Given the description of an element on the screen output the (x, y) to click on. 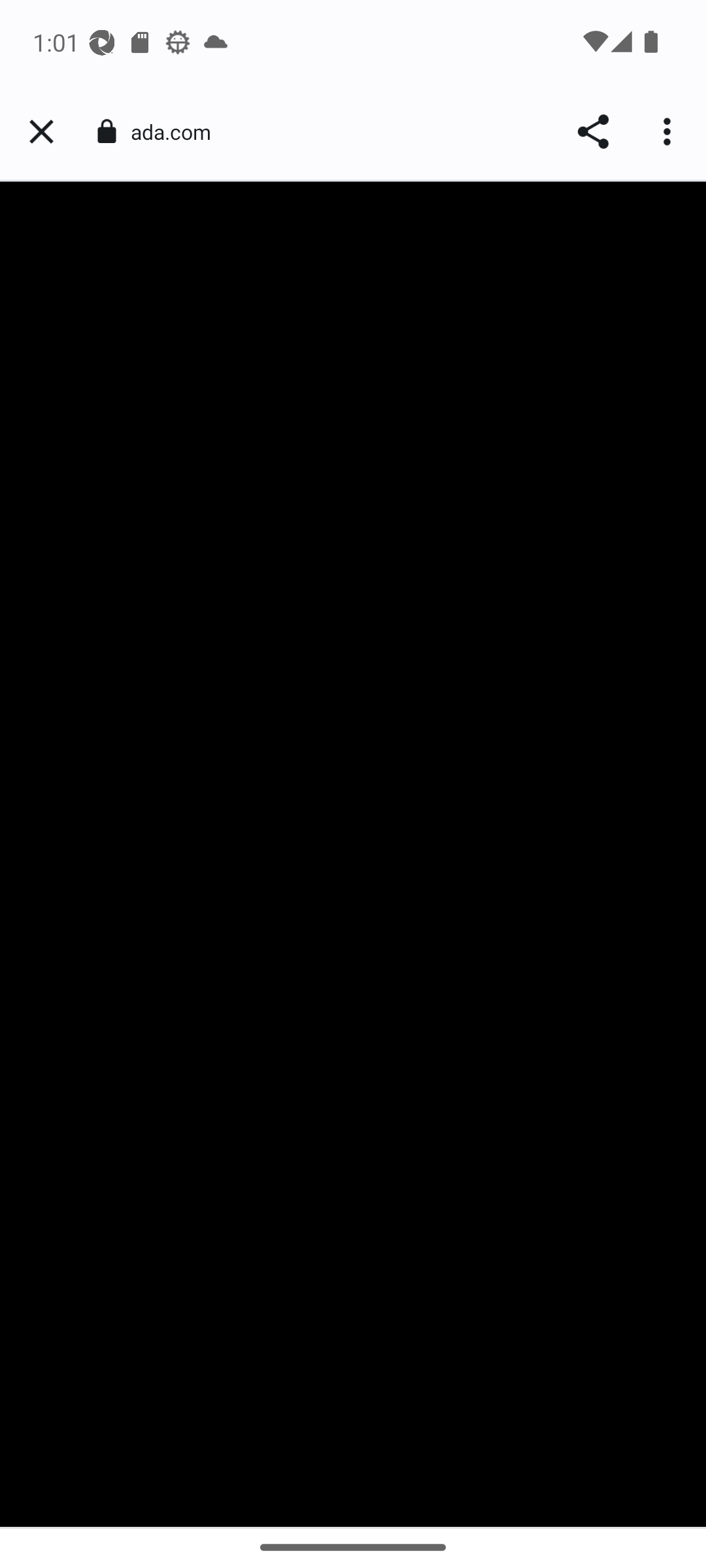
Close tab (41, 131)
Share (592, 131)
More options (669, 131)
Connection is secure (106, 131)
ada.com (177, 131)
